Given the description of an element on the screen output the (x, y) to click on. 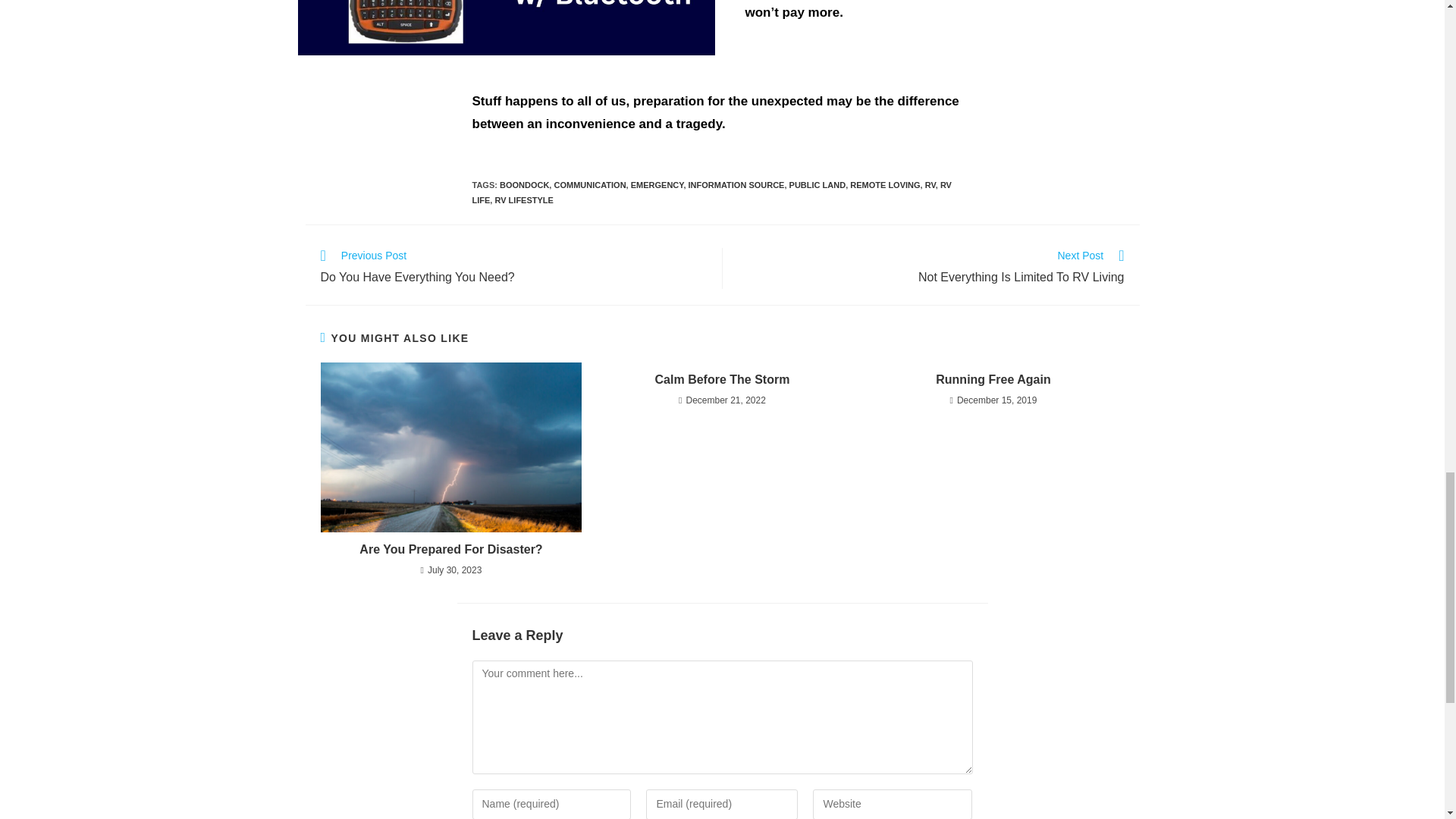
COMMUNICATION (589, 184)
PUBLIC LAND (817, 184)
REMOTE LOVING (885, 184)
EMERGENCY (657, 184)
RV (930, 184)
INFORMATION SOURCE (736, 184)
BOONDOCK (523, 184)
